Given the description of an element on the screen output the (x, y) to click on. 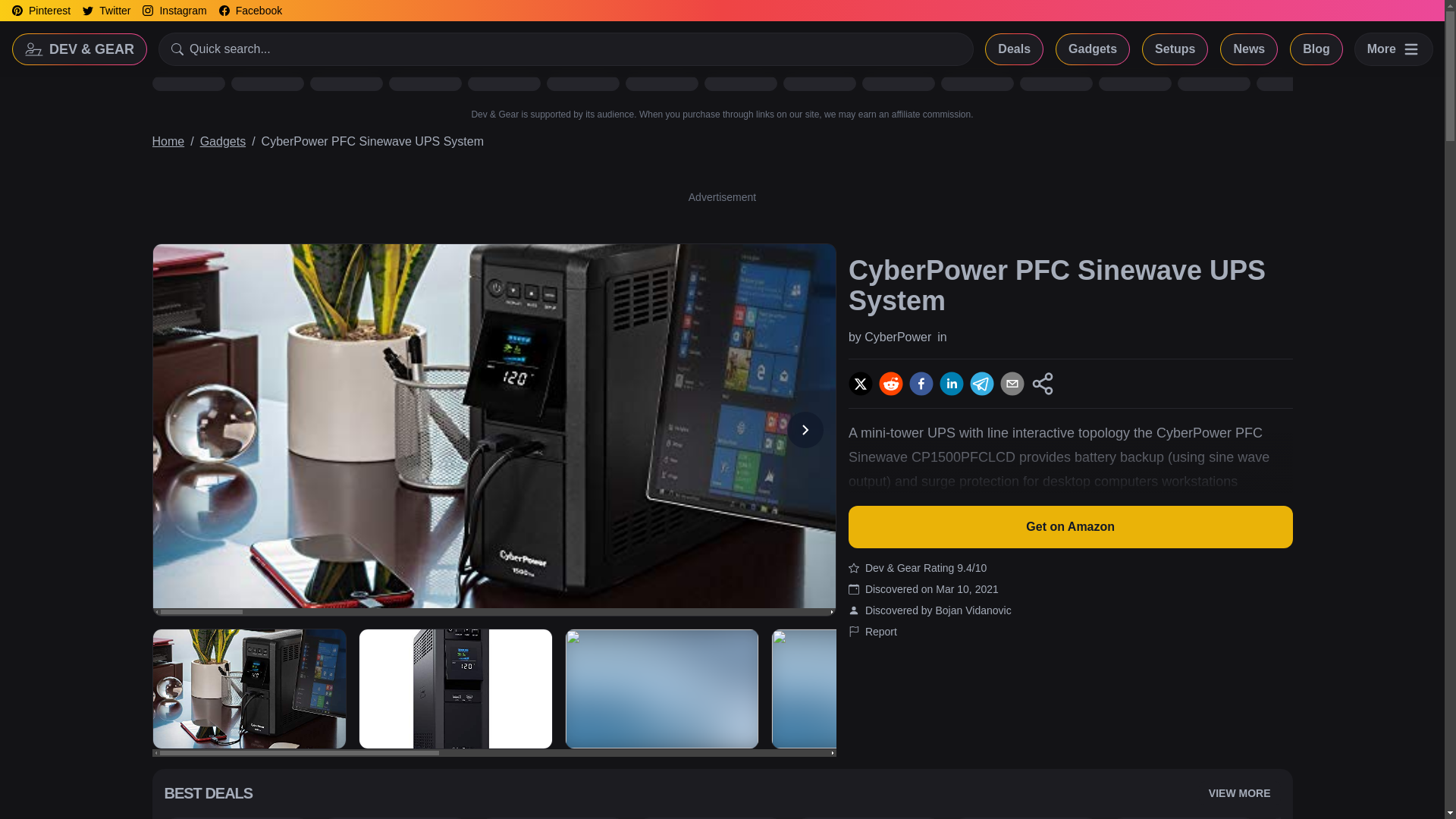
VIEW MORE (1239, 793)
Bojan Vidanovic (972, 610)
Instagram (174, 10)
Gadgets (223, 141)
Setups (1174, 49)
Report (880, 631)
Get on Amazon (1070, 526)
Blog (1316, 49)
More (1393, 49)
Deals (1013, 49)
CyberPower (897, 336)
News (1248, 49)
Facebook (250, 10)
Pinterest (40, 10)
